Given the description of an element on the screen output the (x, y) to click on. 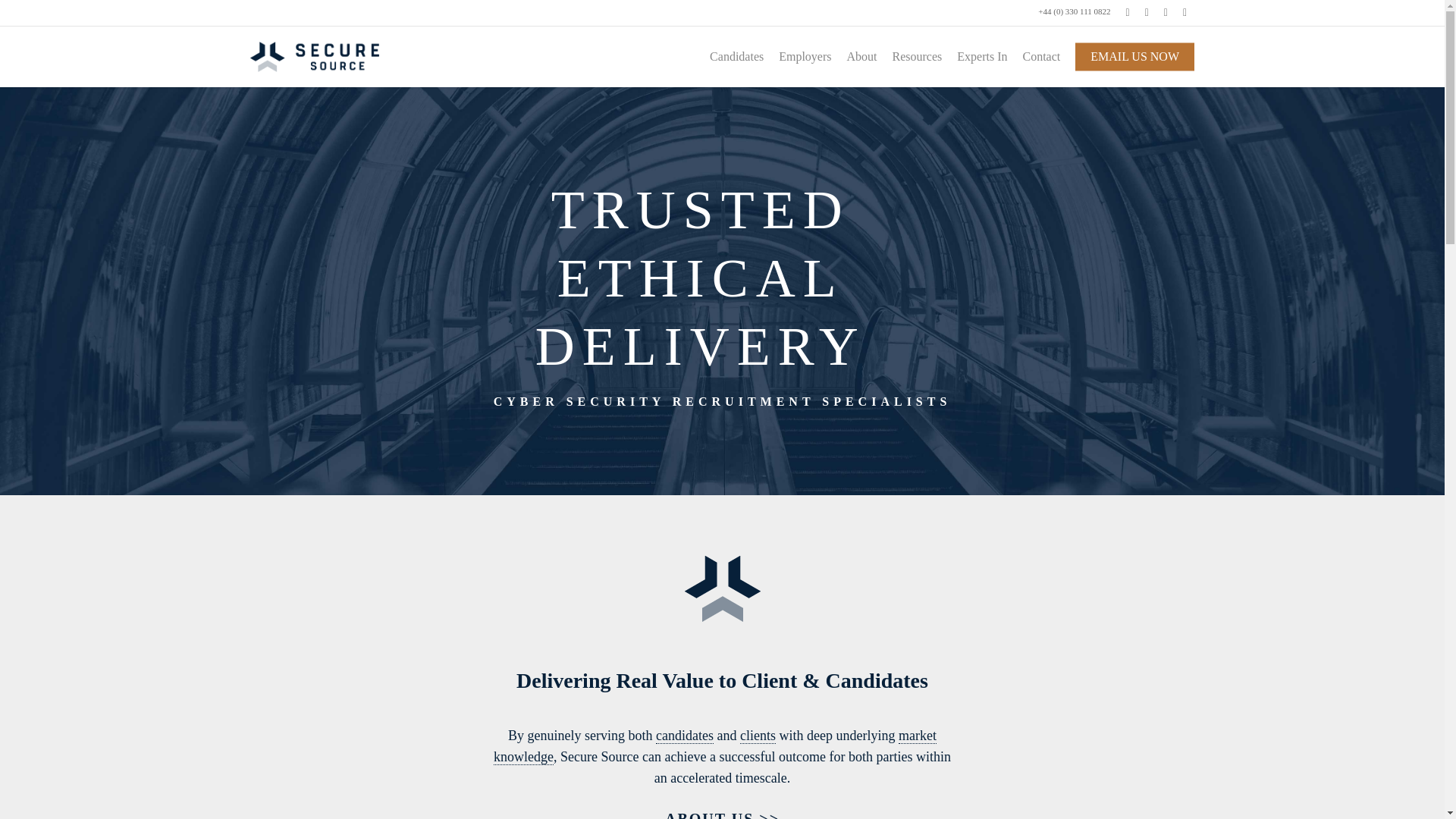
market knowledge (714, 746)
Resources (917, 56)
candidates (684, 735)
EMAIL US NOW (1134, 56)
About (862, 56)
Experts In (981, 56)
Candidates (736, 56)
clients (757, 735)
Employers (804, 56)
Contact (1040, 56)
